Given the description of an element on the screen output the (x, y) to click on. 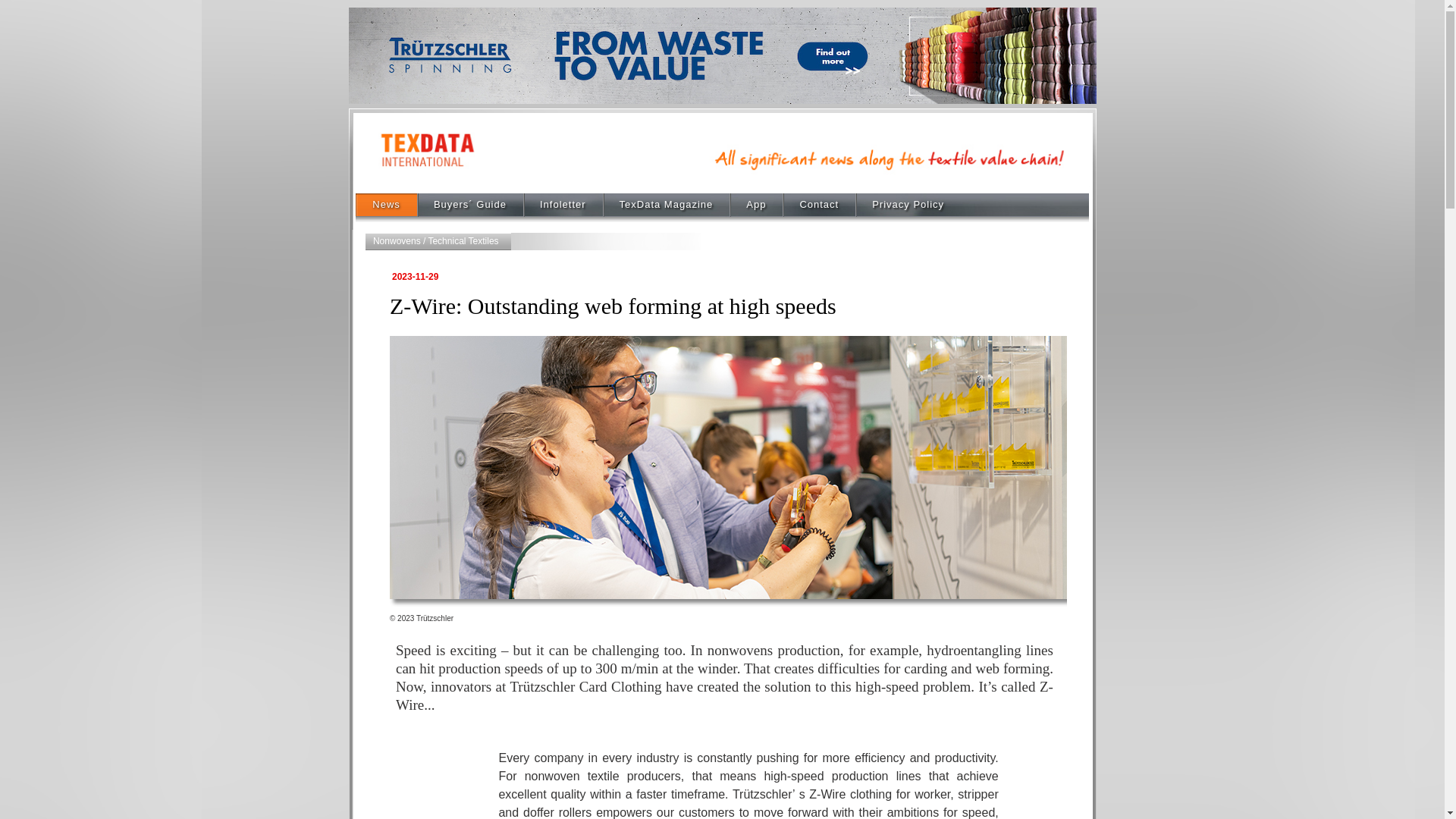
Contact (819, 207)
Privacy Policy (908, 207)
App (756, 207)
TexData Magazine (666, 207)
News (385, 207)
Infoletter (562, 207)
